Given the description of an element on the screen output the (x, y) to click on. 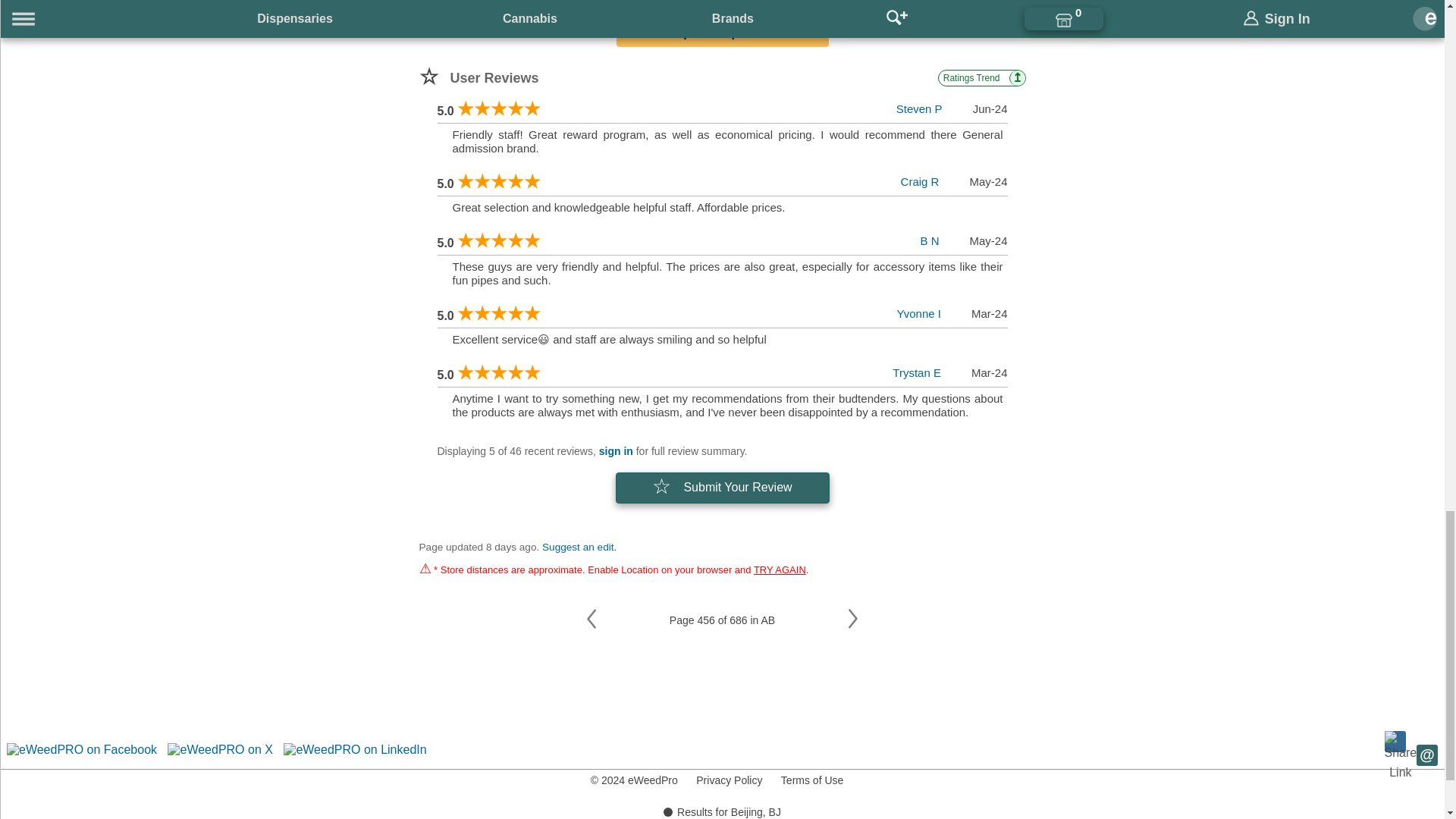
Yvonne I (918, 313)
Suggest an edit. (578, 546)
B N (929, 240)
Craig R (920, 181)
Steven P (919, 108)
sign in (615, 451)
Trystan E (916, 372)
